Given the description of an element on the screen output the (x, y) to click on. 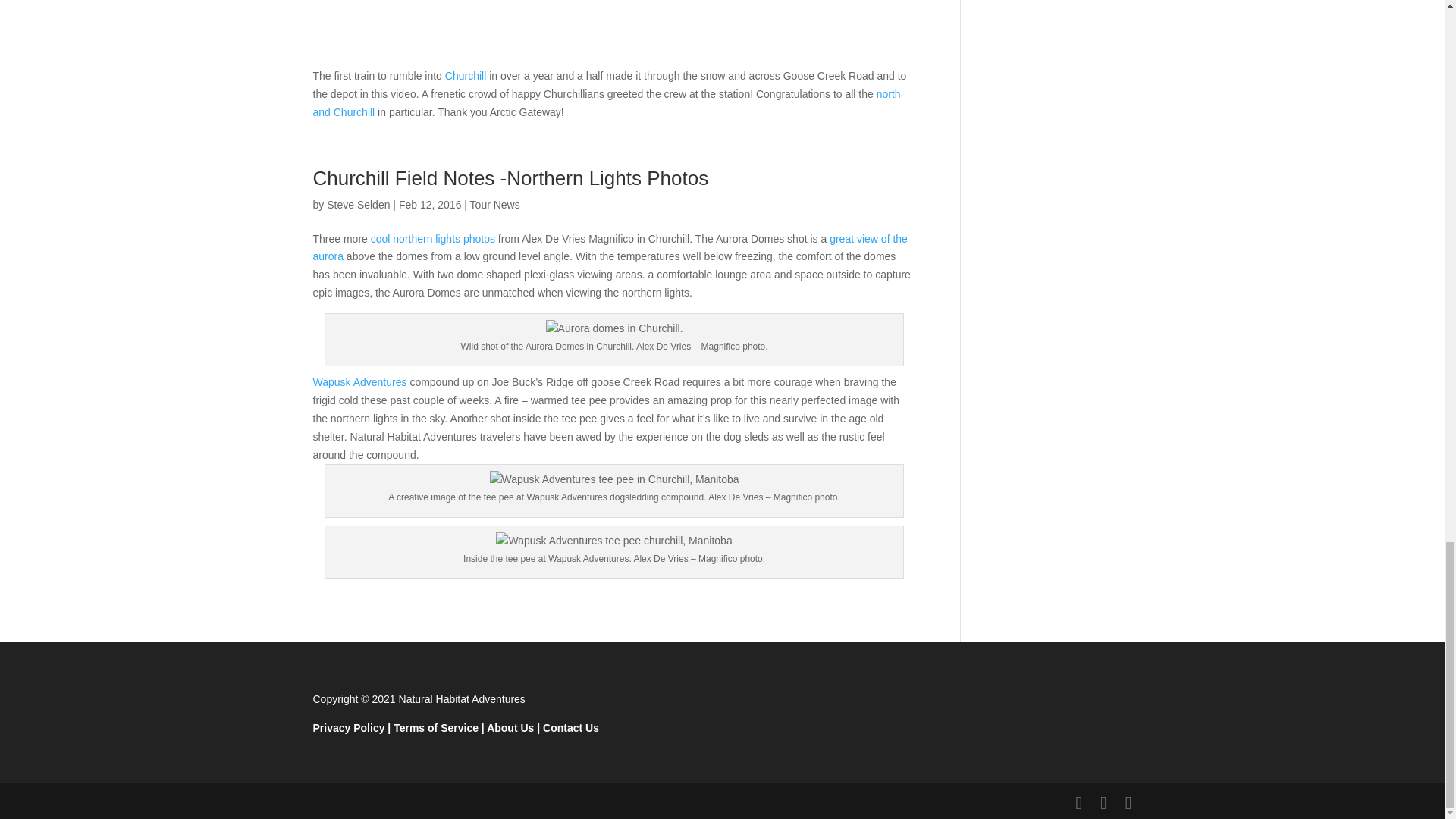
Posts by Steve Selden (358, 204)
